Given the description of an element on the screen output the (x, y) to click on. 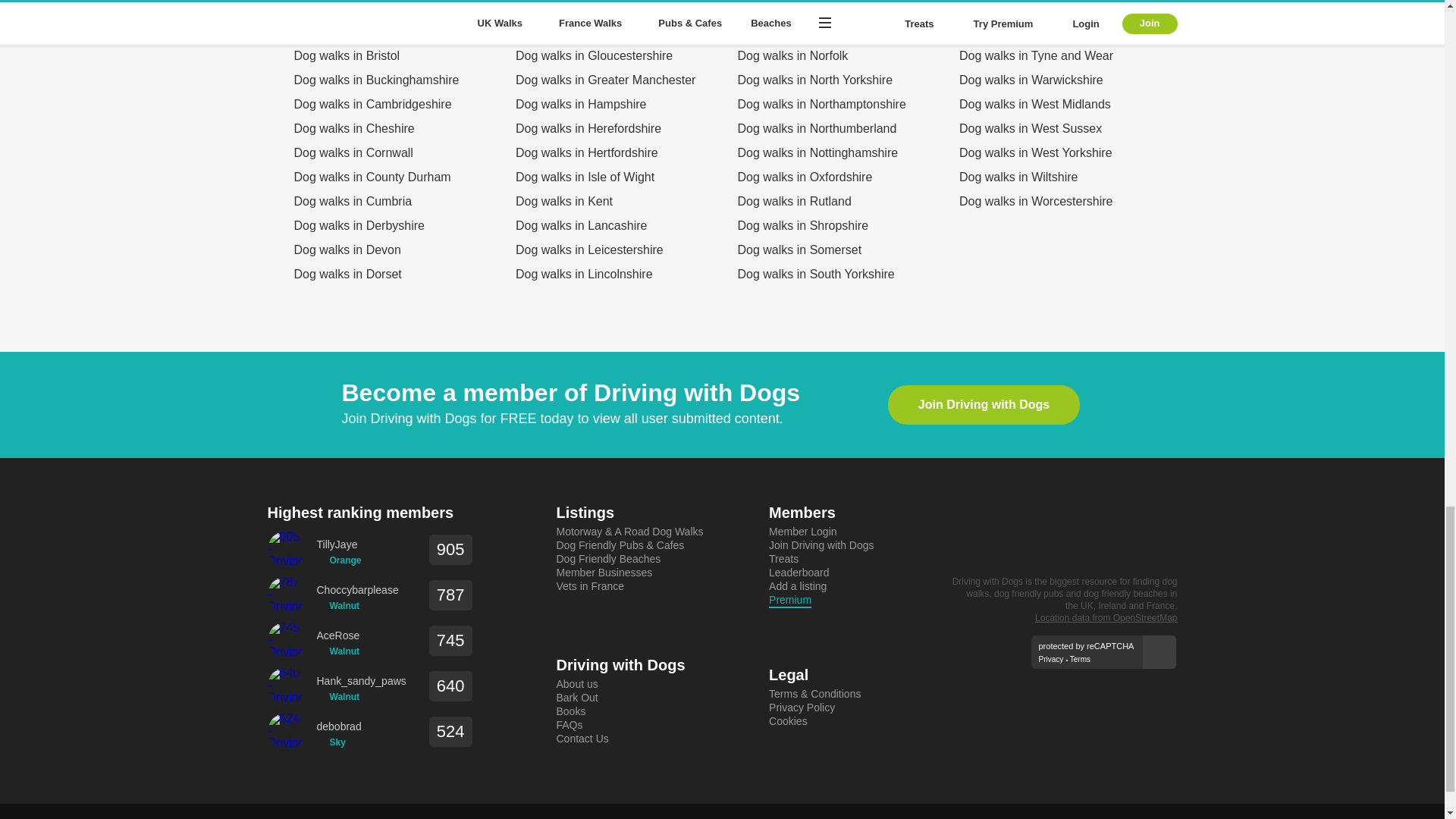
debobrad (339, 726)
Choccybarplease (357, 590)
AceRose (338, 635)
TillyJaye (339, 544)
